Given the description of an element on the screen output the (x, y) to click on. 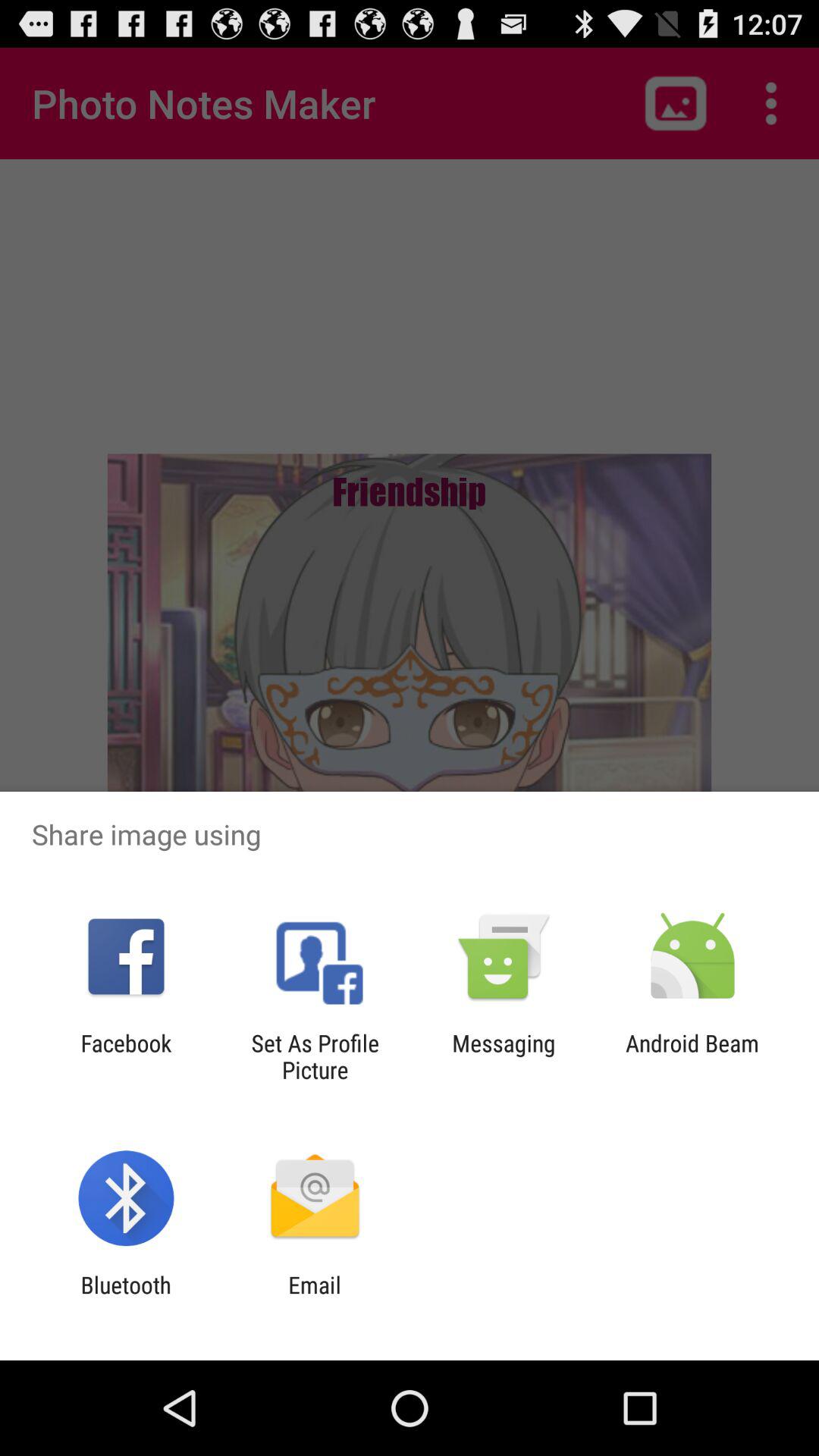
jump until the facebook icon (125, 1056)
